Given the description of an element on the screen output the (x, y) to click on. 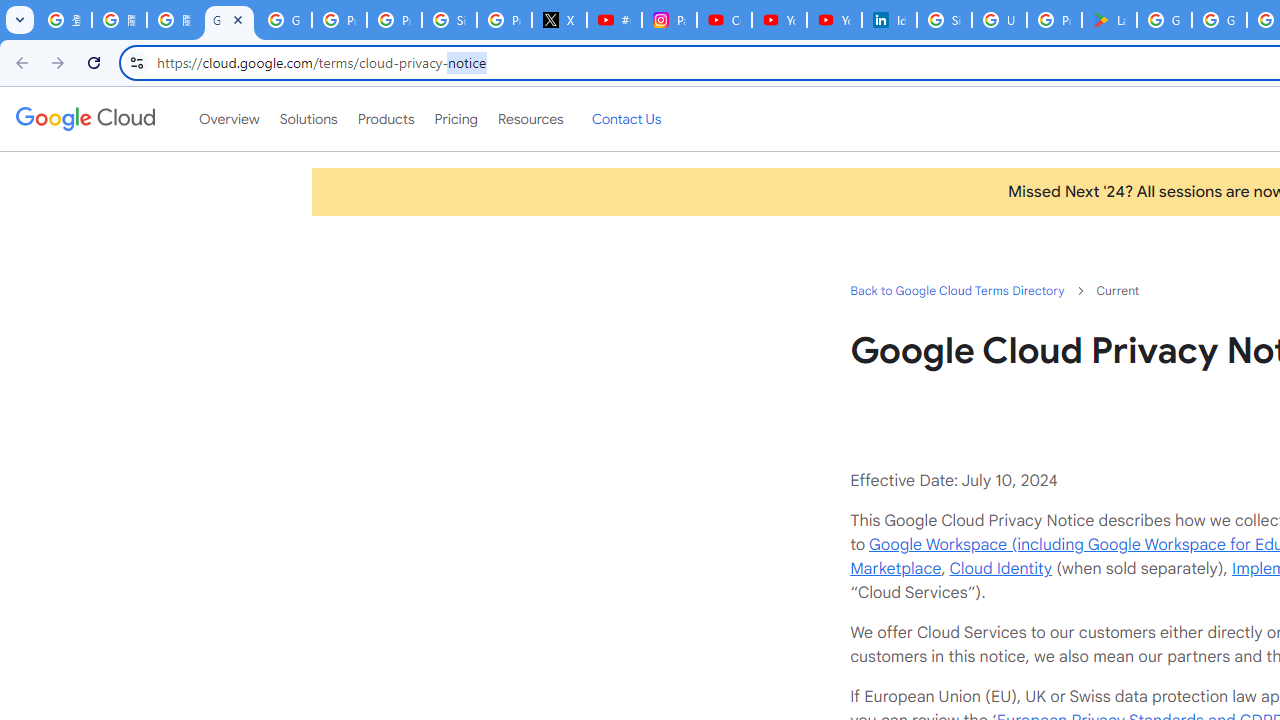
X (559, 20)
Last Shelter: Survival - Apps on Google Play (1108, 20)
Privacy Help Center - Policies Help (394, 20)
Back to Google Cloud Terms Directory (956, 290)
Pricing (455, 119)
Solutions (308, 119)
Google Cloud (84, 118)
Cloud Identity (1000, 568)
